Given the description of an element on the screen output the (x, y) to click on. 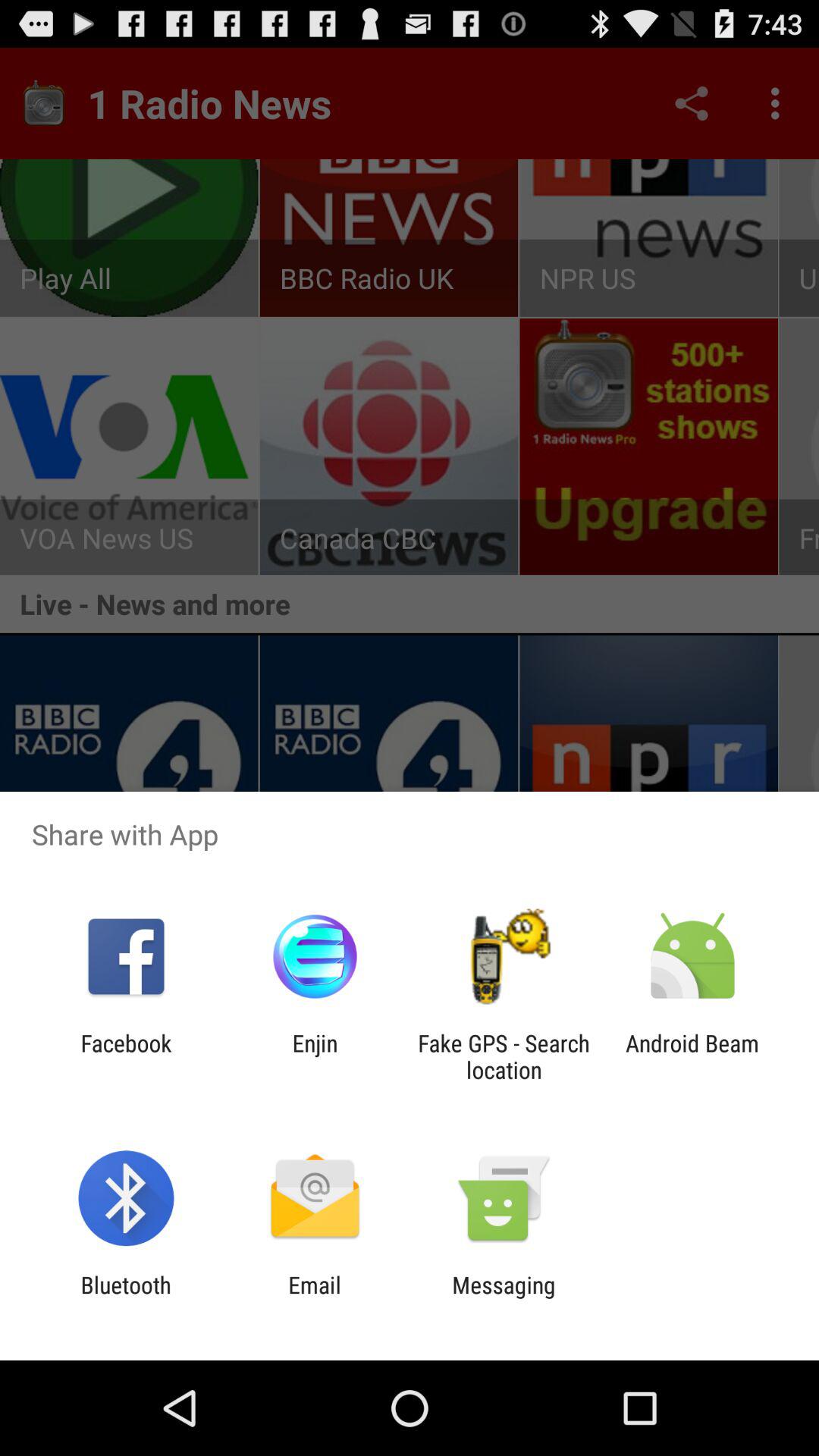
press icon to the left of messaging icon (314, 1298)
